Given the description of an element on the screen output the (x, y) to click on. 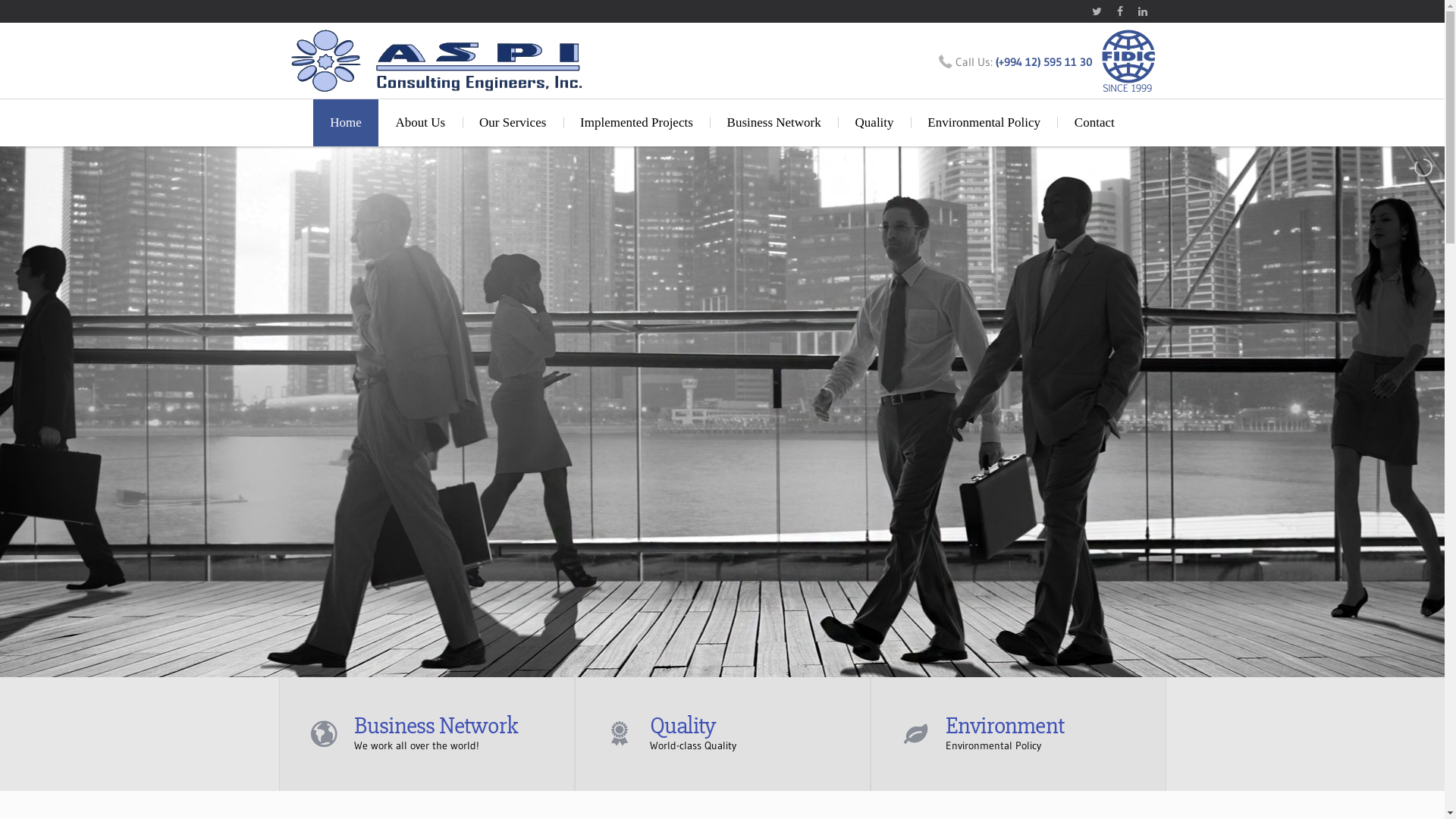
Quality Element type: text (873, 122)
Implemented Projects Element type: text (636, 122)
Quality
World-class Quality Element type: text (721, 733)
Our Services Element type: text (512, 122)
Business Network Element type: text (773, 122)
Contact Element type: text (1094, 122)
Environment
Environmental Policy Element type: text (1017, 733)
Environmental Policy Element type: text (983, 122)
About Us Element type: text (419, 122)
Home Element type: text (345, 122)
Business Network
We work all over the world! Element type: text (426, 733)
